Given the description of an element on the screen output the (x, y) to click on. 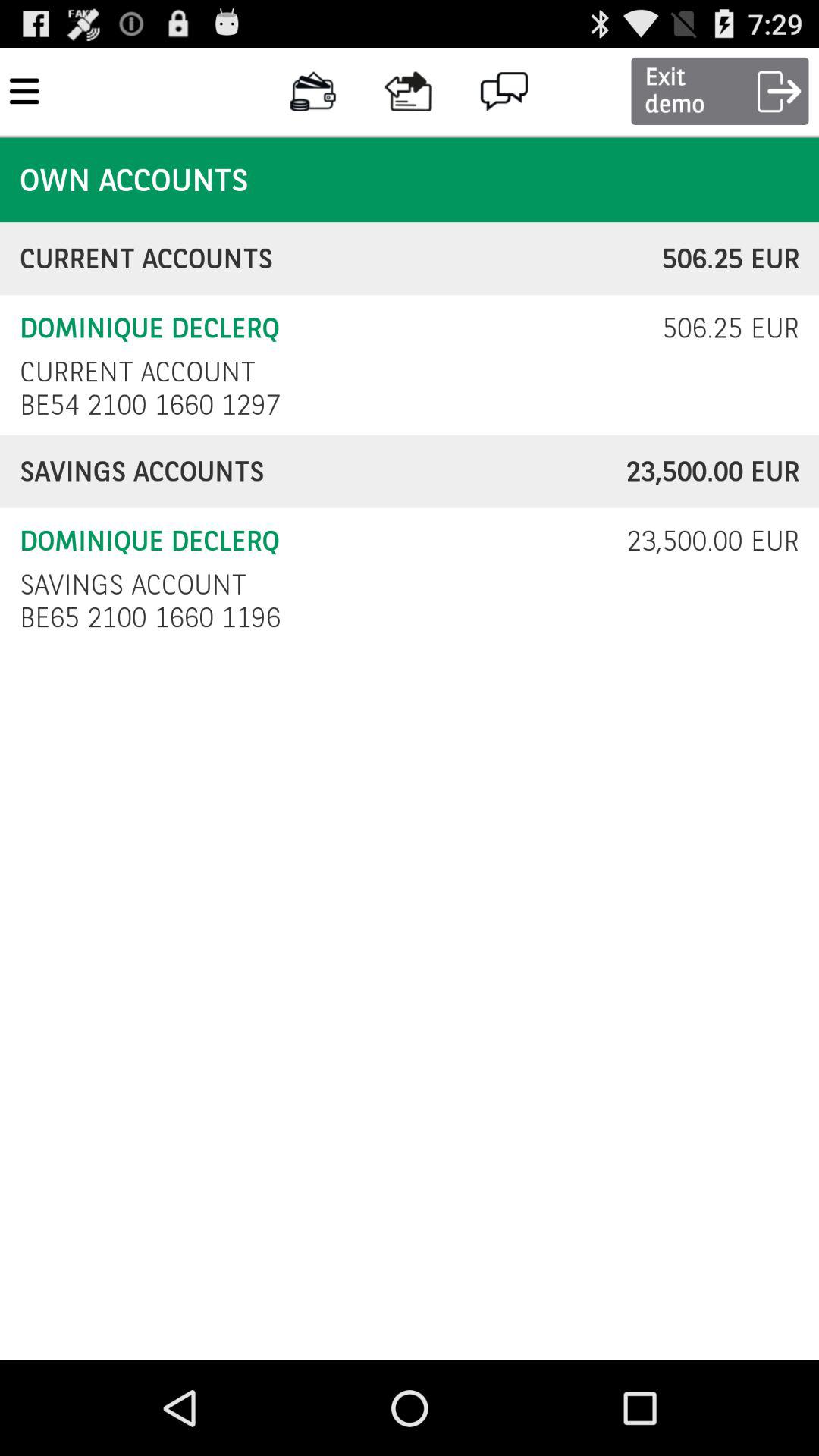
turn on item below the current account icon (153, 404)
